Given the description of an element on the screen output the (x, y) to click on. 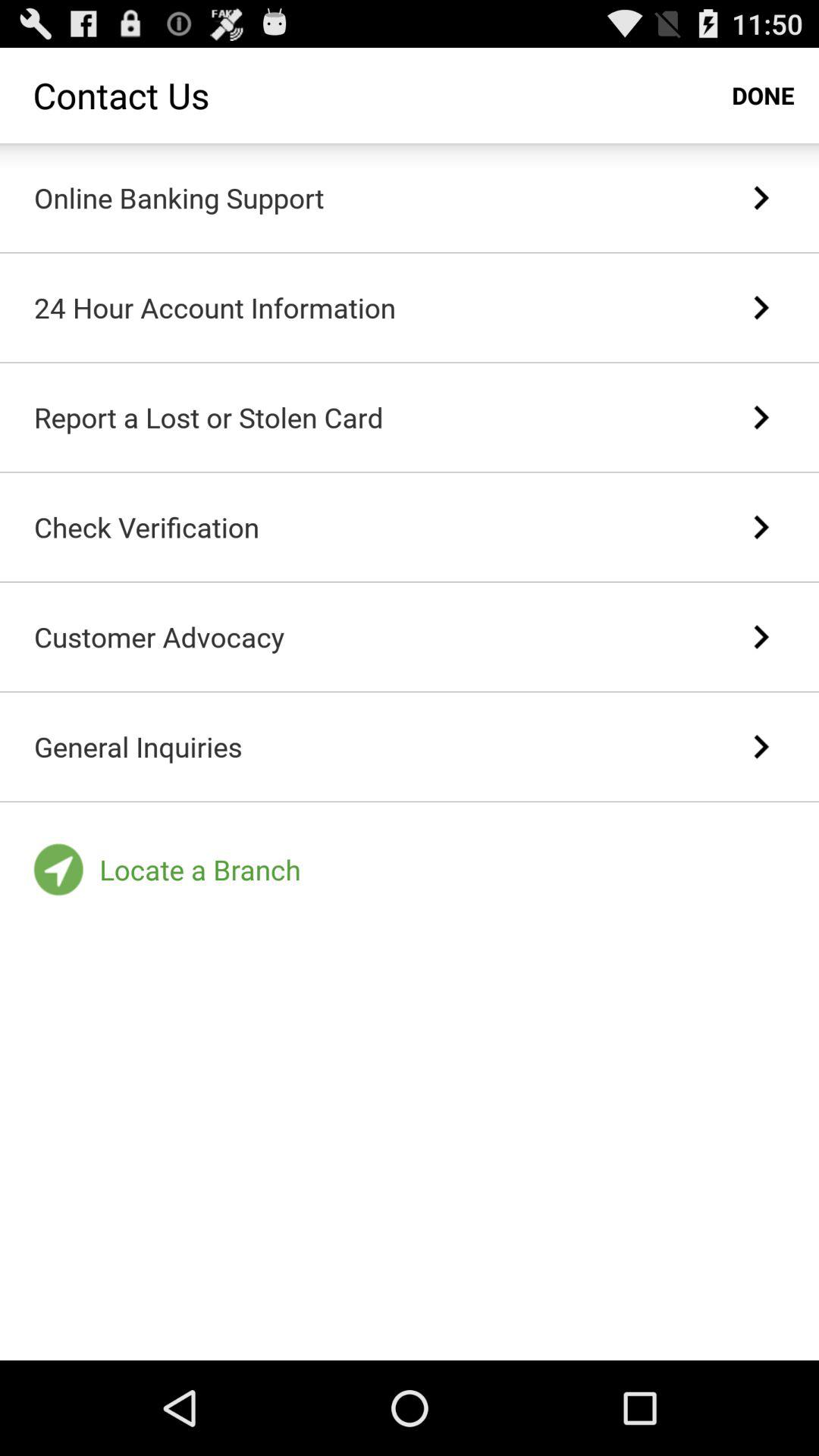
choose the item next to 24 hour account icon (760, 307)
